Given the description of an element on the screen output the (x, y) to click on. 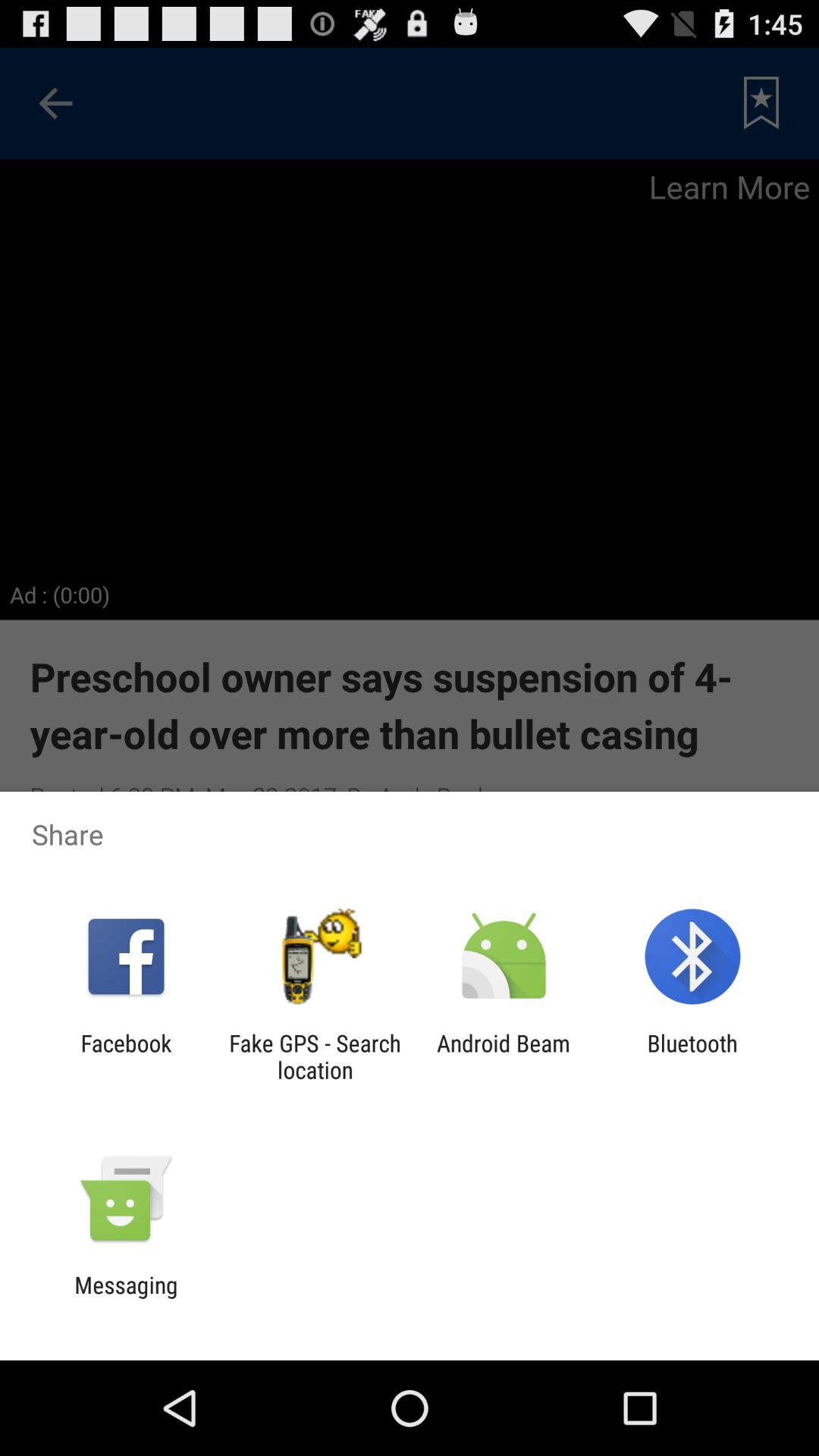
tap the app next to the fake gps search (125, 1056)
